Given the description of an element on the screen output the (x, y) to click on. 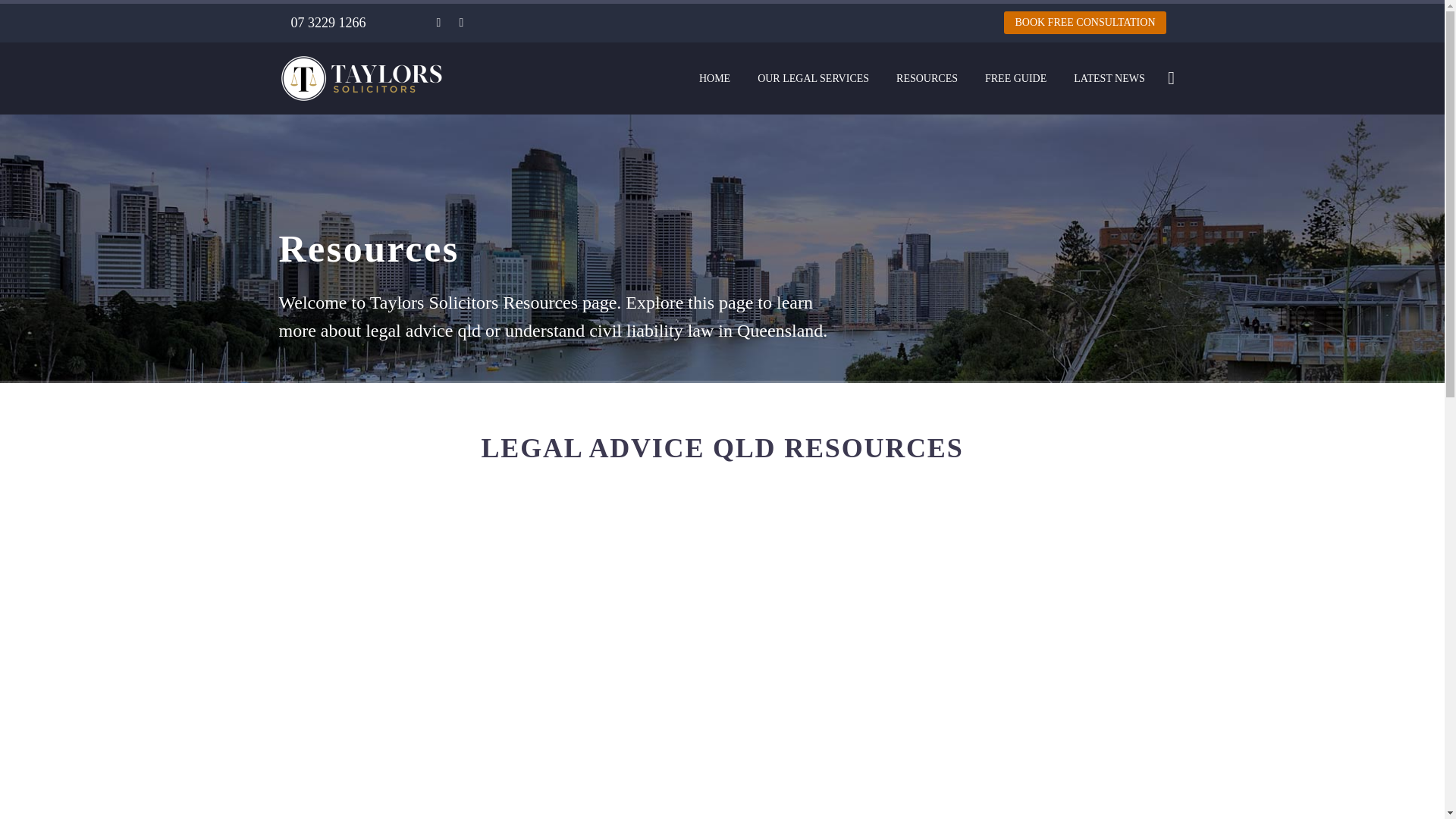
OUR LEGAL SERVICES (812, 77)
HOME (714, 77)
LinkedIn (461, 22)
BOOK FREE CONSULTATION (1085, 22)
FREE GUIDE (1016, 77)
LATEST NEWS (1109, 77)
RESOURCES (927, 77)
s (1323, 159)
Facebook (438, 22)
07 3229 1266 (328, 22)
